Given the description of an element on the screen output the (x, y) to click on. 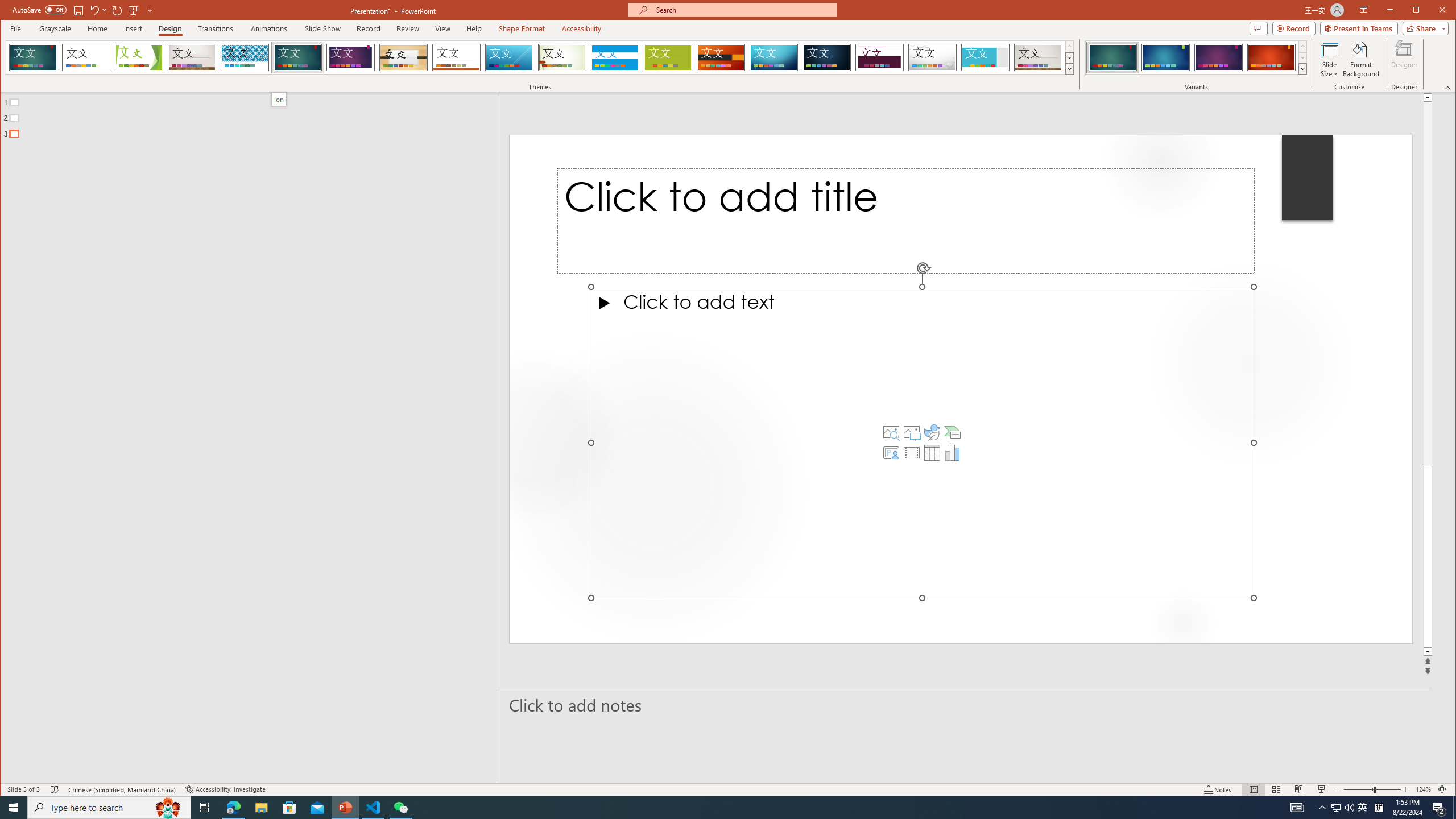
Format Background (1360, 59)
WeChat - 1 running window (400, 807)
Insert an Icon (931, 432)
Variants (1302, 68)
Maximize (1432, 11)
Microsoft Edge - 1 running window (233, 807)
